Given the description of an element on the screen output the (x, y) to click on. 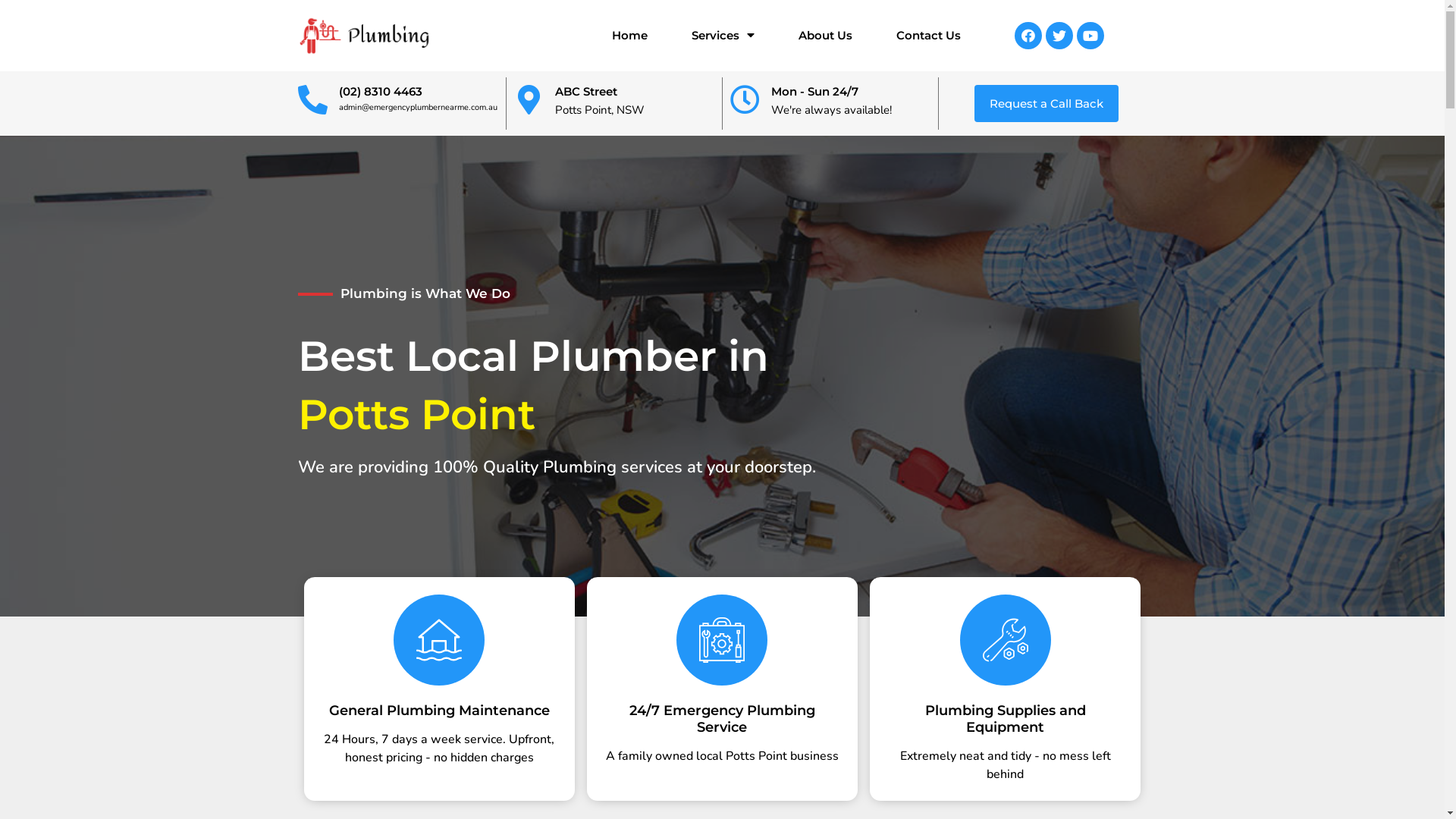
About Us Element type: text (824, 35)
(02) 8310 4463 Element type: text (379, 91)
Services Element type: text (722, 35)
Request a Call Back Element type: text (1046, 103)
Contact Us Element type: text (928, 35)
Home Element type: text (628, 35)
